Given the description of an element on the screen output the (x, y) to click on. 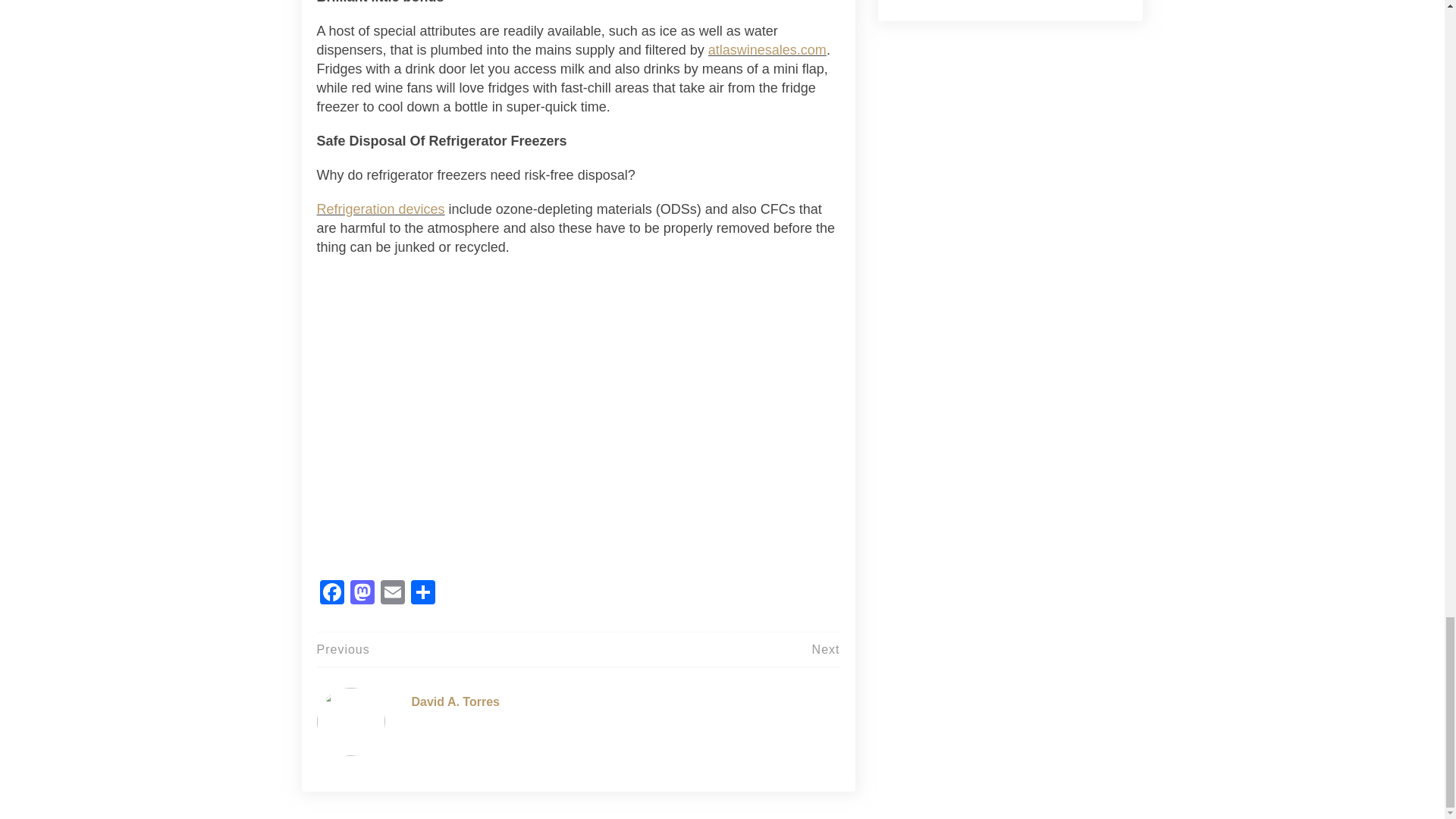
David A. Torres (454, 701)
Posts by David A. Torres (454, 701)
Previous (343, 649)
Mastodon (362, 593)
Email (392, 593)
atlaswinesales.com (767, 49)
Facebook (332, 593)
Next (826, 649)
Refrigeration devices (381, 209)
Facebook (332, 593)
Mastodon (362, 593)
Email (392, 593)
